Given the description of an element on the screen output the (x, y) to click on. 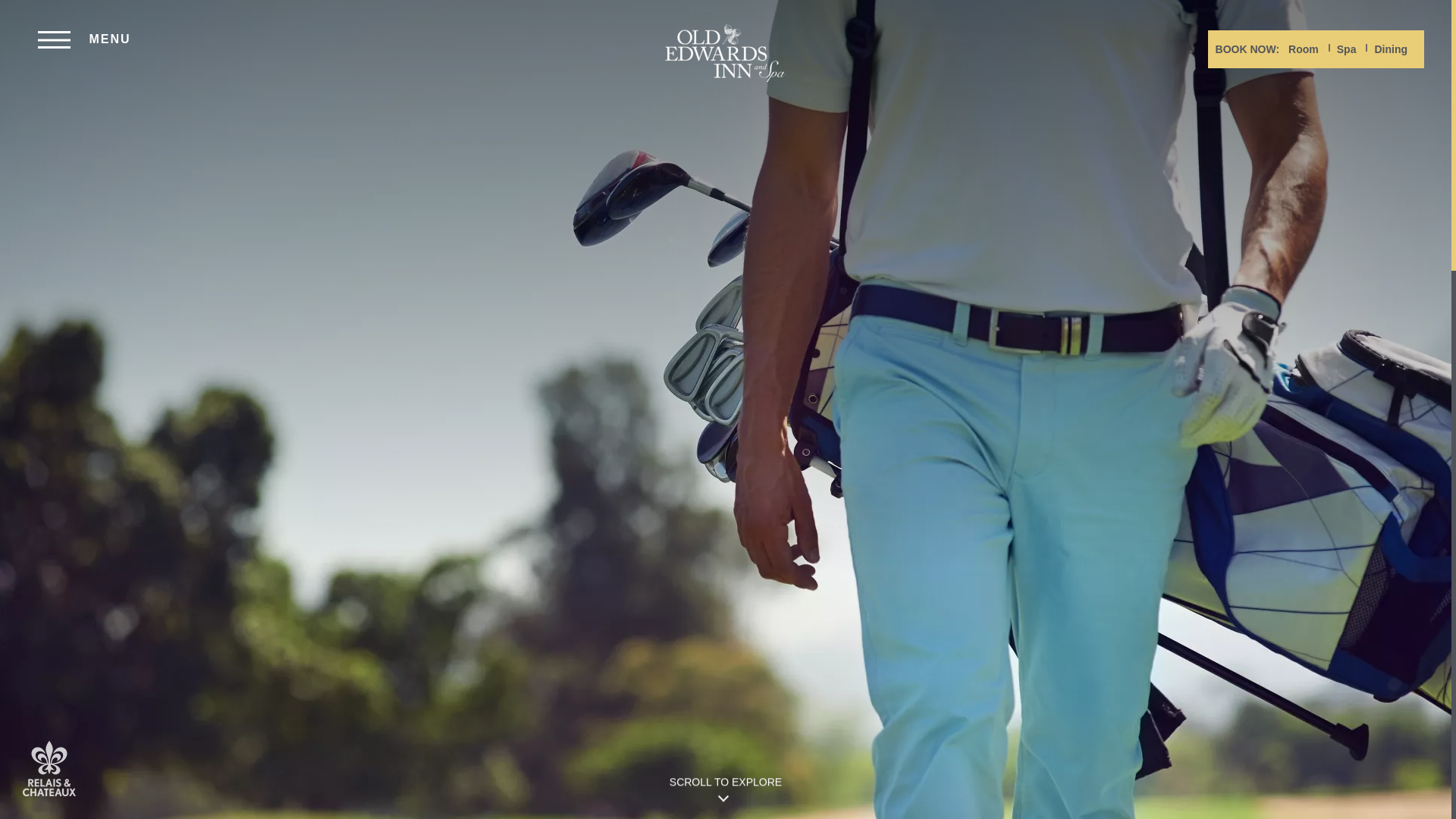
Spa (1346, 48)
MENU (84, 39)
Dining (1390, 48)
Room (1303, 48)
SCROLL TO EXPLORE (725, 794)
